Given the description of an element on the screen output the (x, y) to click on. 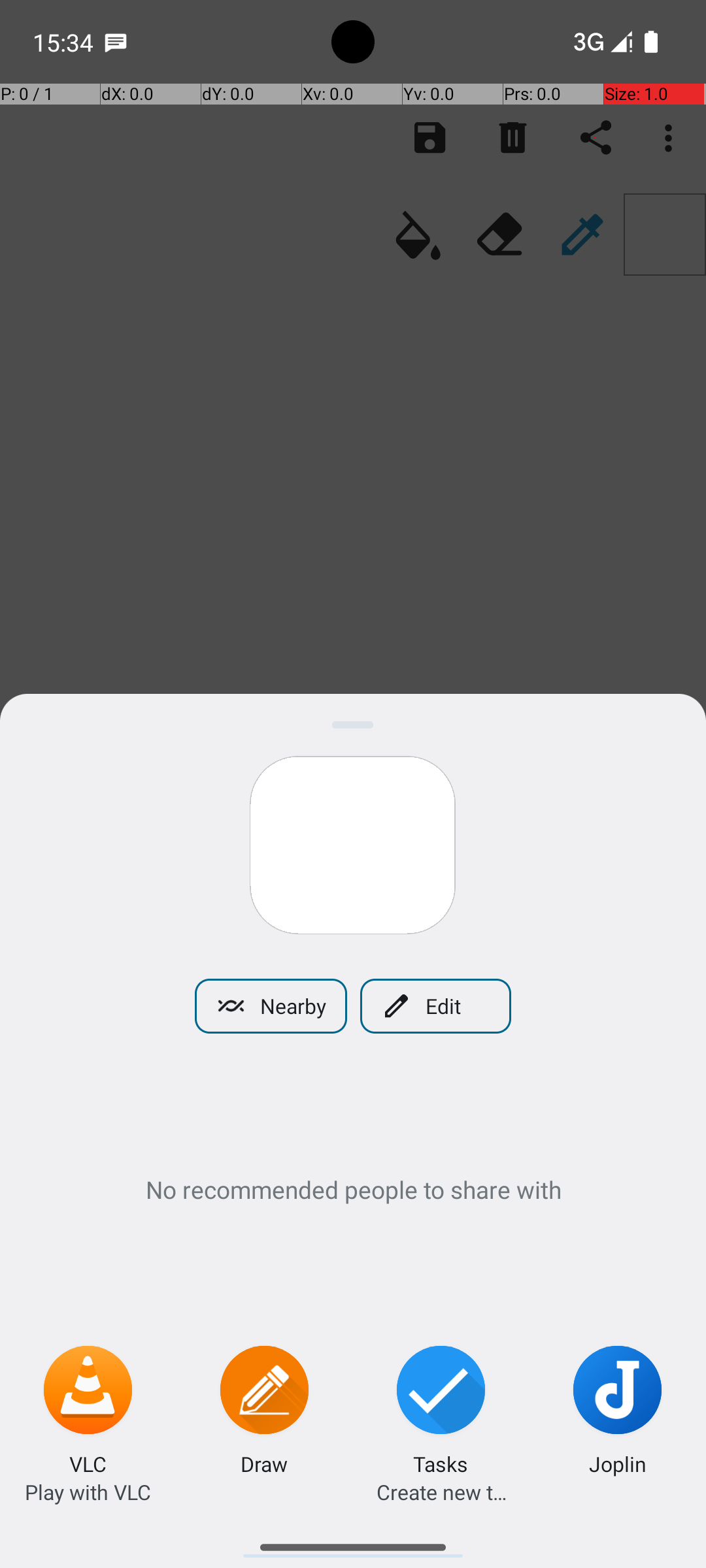
No recommended people to share with Element type: android.widget.TextView (353, 1189)
Play with VLC Element type: android.widget.TextView (87, 1491)
Draw Element type: android.widget.TextView (264, 1463)
Create new task Element type: android.widget.TextView (440, 1491)
Joplin Element type: android.widget.TextView (617, 1463)
